Given the description of an element on the screen output the (x, y) to click on. 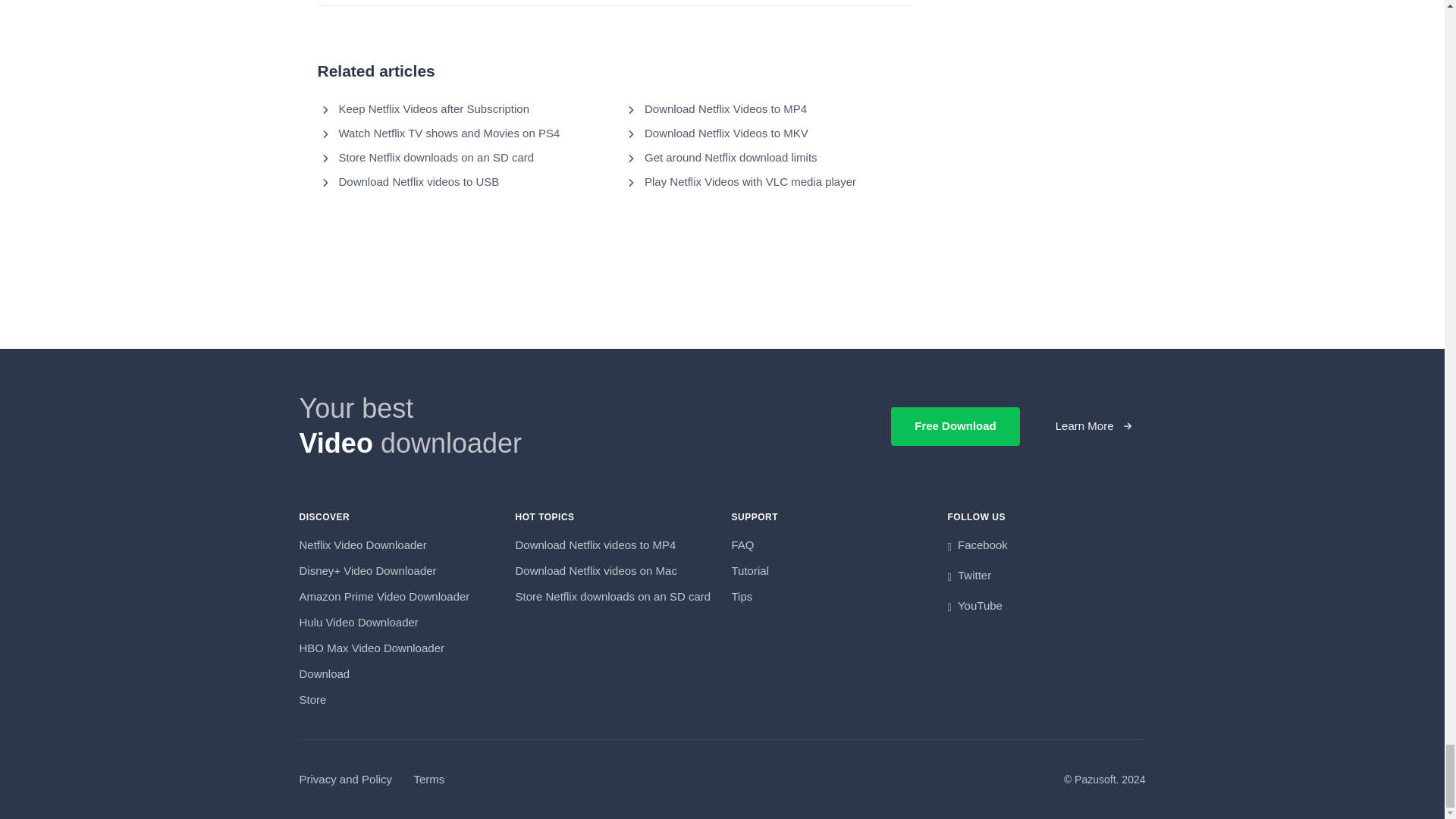
Watch Netflix TV shows and Movies on PS4 (448, 133)
Keep Netflix Videos after Subscription (433, 108)
Store Netflix downloads on an SD card (435, 158)
